Given the description of an element on the screen output the (x, y) to click on. 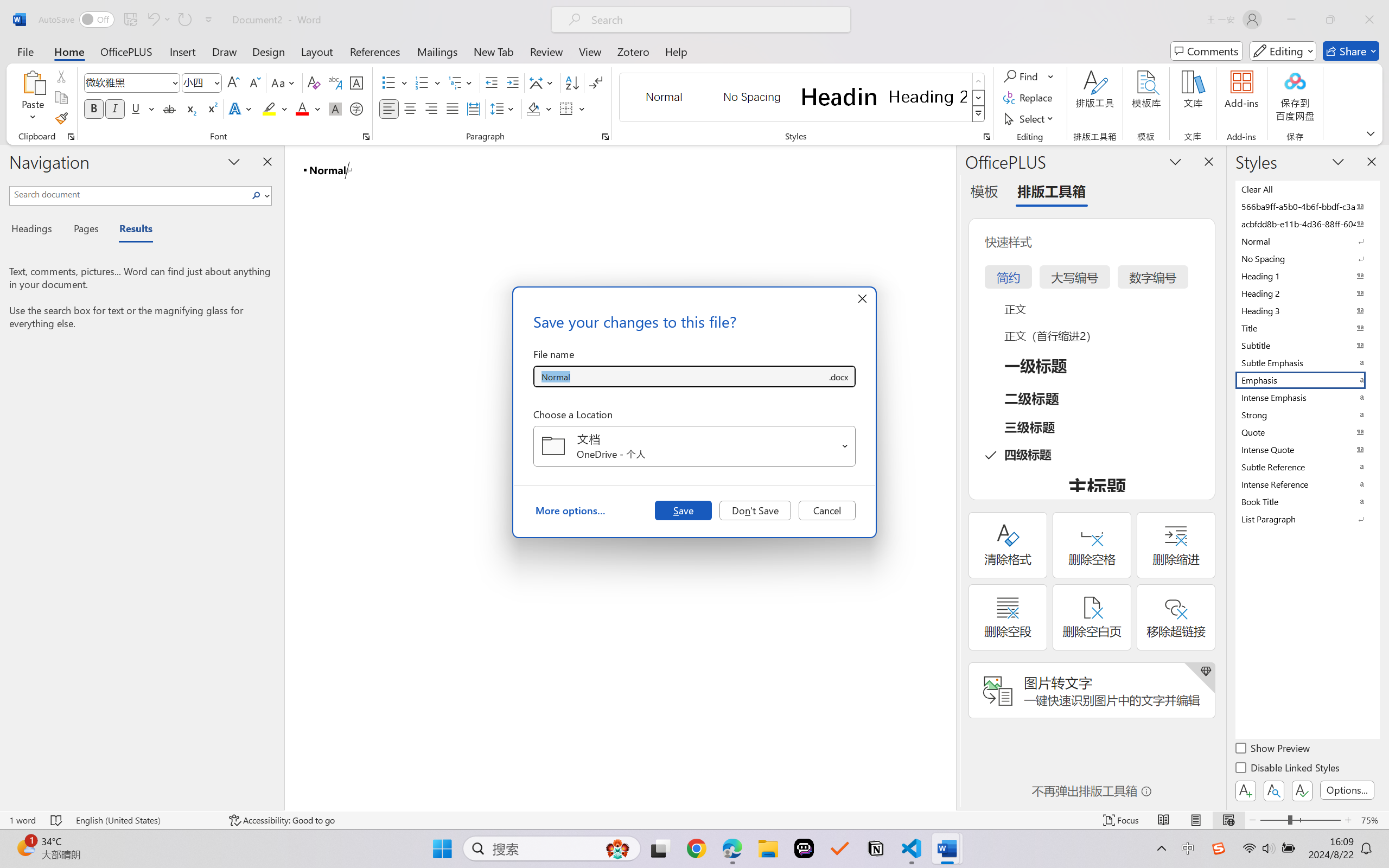
Font (132, 82)
Font Size (196, 82)
Options... (1346, 789)
Change Case (284, 82)
Shrink Font (253, 82)
Strikethrough (169, 108)
Phonetic Guide... (334, 82)
Shading (539, 108)
Cancel (826, 509)
Copy (60, 97)
